Given the description of an element on the screen output the (x, y) to click on. 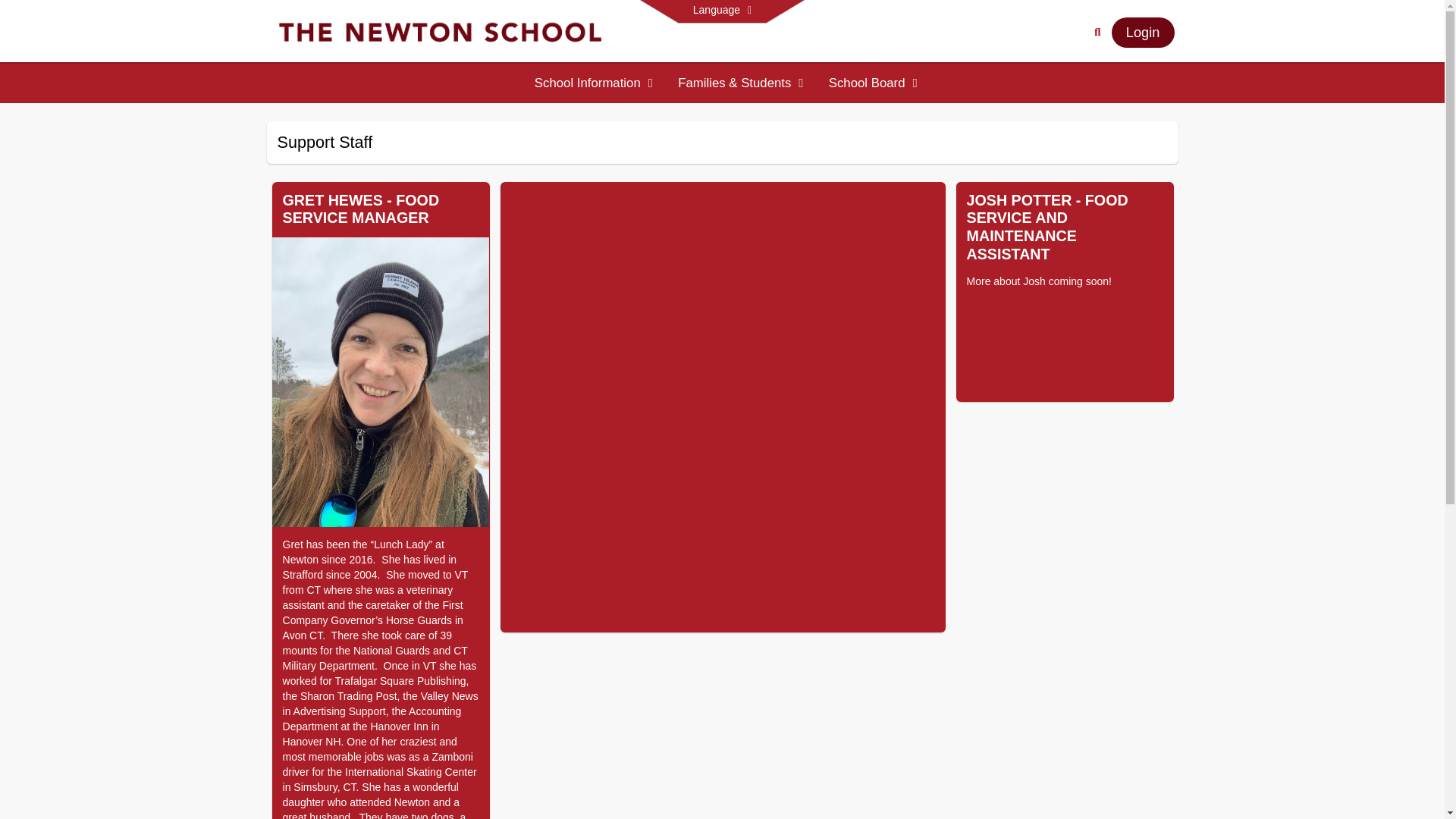
Subscribe to Organization (1158, 142)
School Board (873, 83)
The Newton School (443, 31)
Login (1143, 32)
Language (721, 11)
School Information (594, 83)
